Given the description of an element on the screen output the (x, y) to click on. 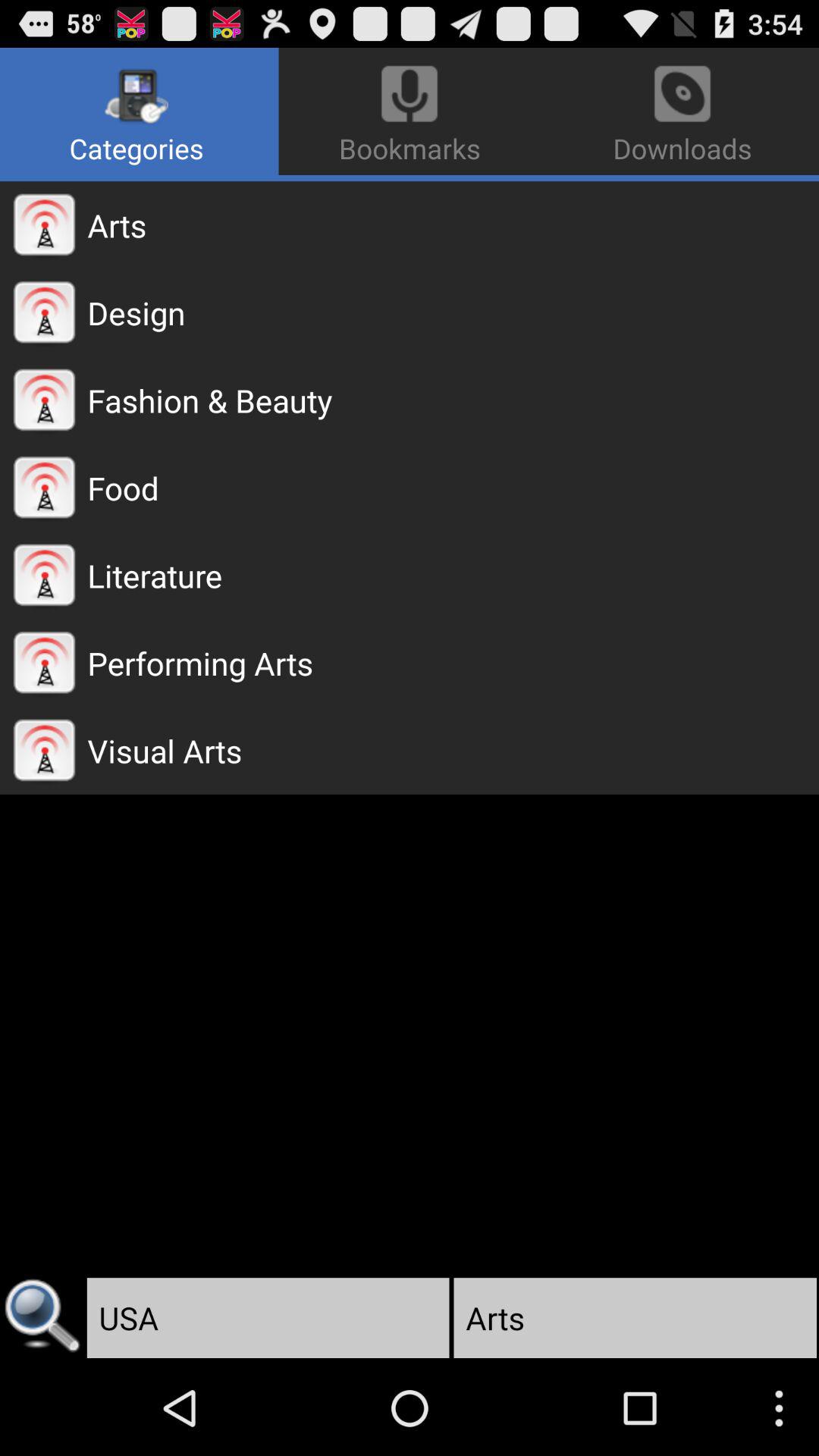
click the app to the left of usa app (42, 1317)
